Given the description of an element on the screen output the (x, y) to click on. 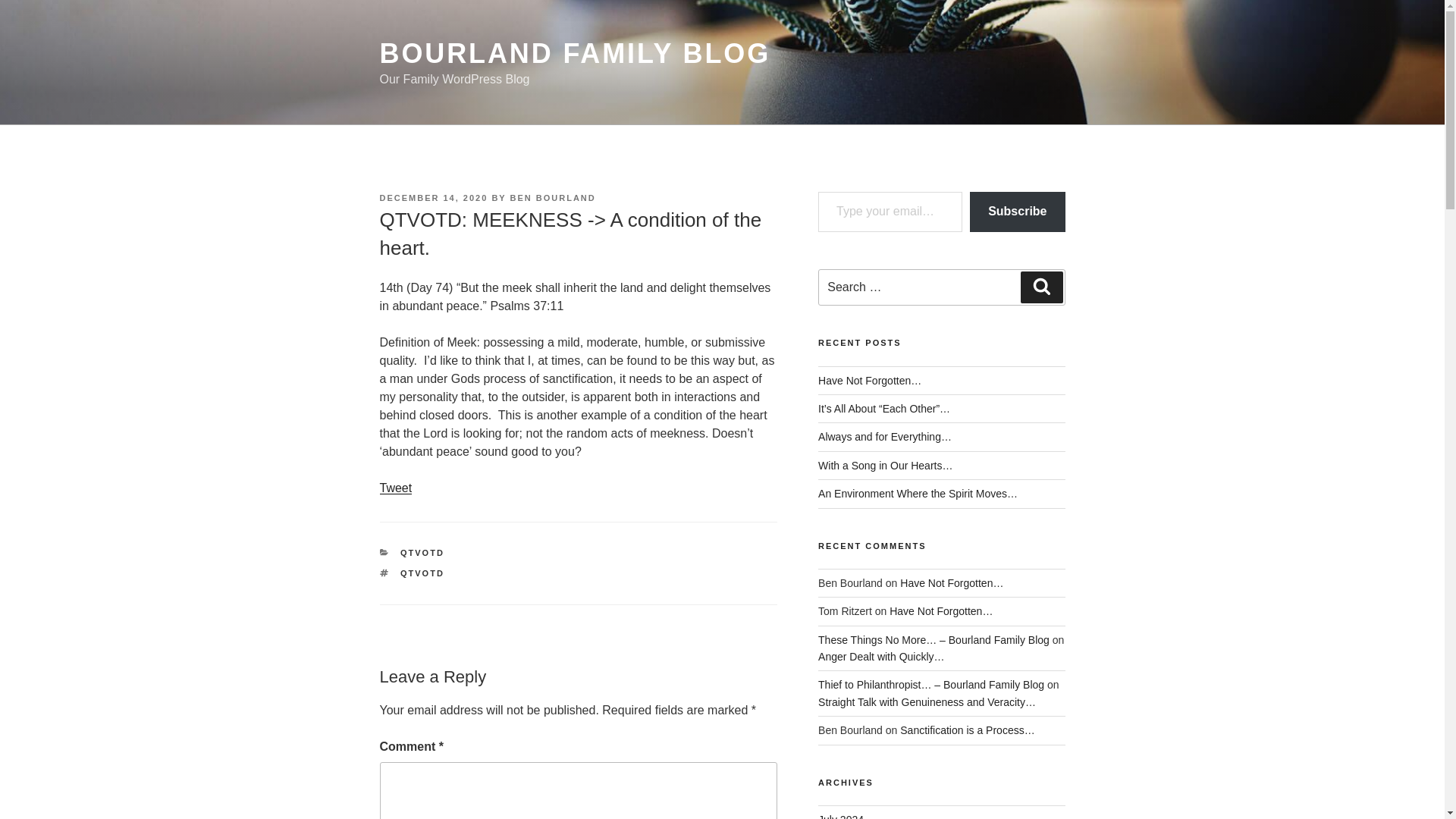
Subscribe (1016, 211)
QTVOTD (422, 573)
BOURLAND FAMILY BLOG (574, 52)
BEN BOURLAND (553, 197)
July 2024 (840, 816)
QTVOTD (422, 552)
Please fill in this field. (890, 211)
Tweet (395, 487)
DECEMBER 14, 2020 (432, 197)
Search (1041, 287)
